Given the description of an element on the screen output the (x, y) to click on. 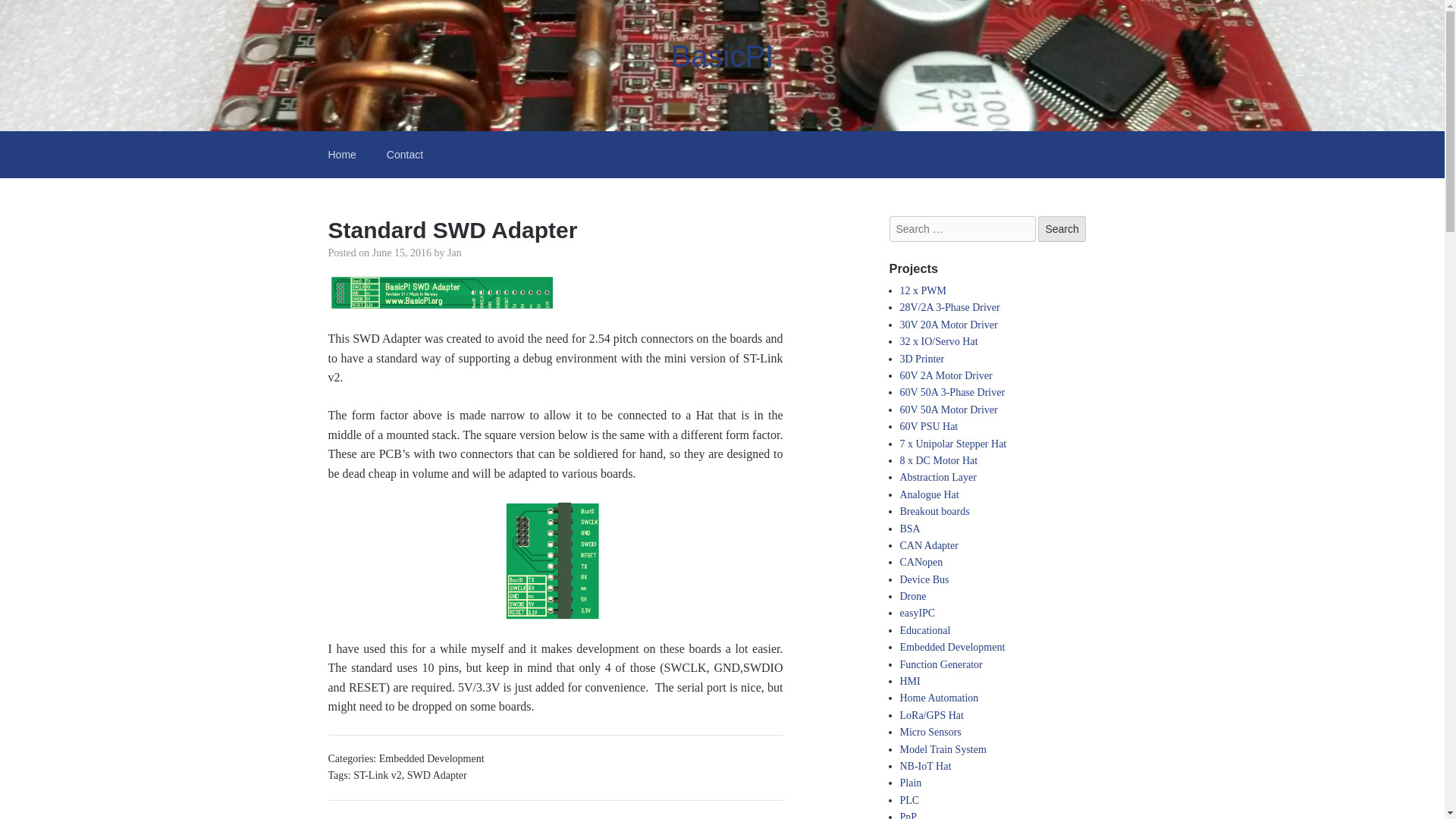
Embedded Development (951, 646)
Search (1061, 228)
12 x PWM (921, 290)
easyIPC (916, 613)
Drone (912, 595)
CAN Adapter (928, 545)
Embedded Development (431, 758)
60V 2A Motor Driver (945, 375)
Educational (924, 630)
Jan (453, 252)
60V 50A 3-Phase Driver (951, 392)
Device Bus (924, 579)
3D Printer (921, 358)
ST-Link v2 (377, 775)
